Given the description of an element on the screen output the (x, y) to click on. 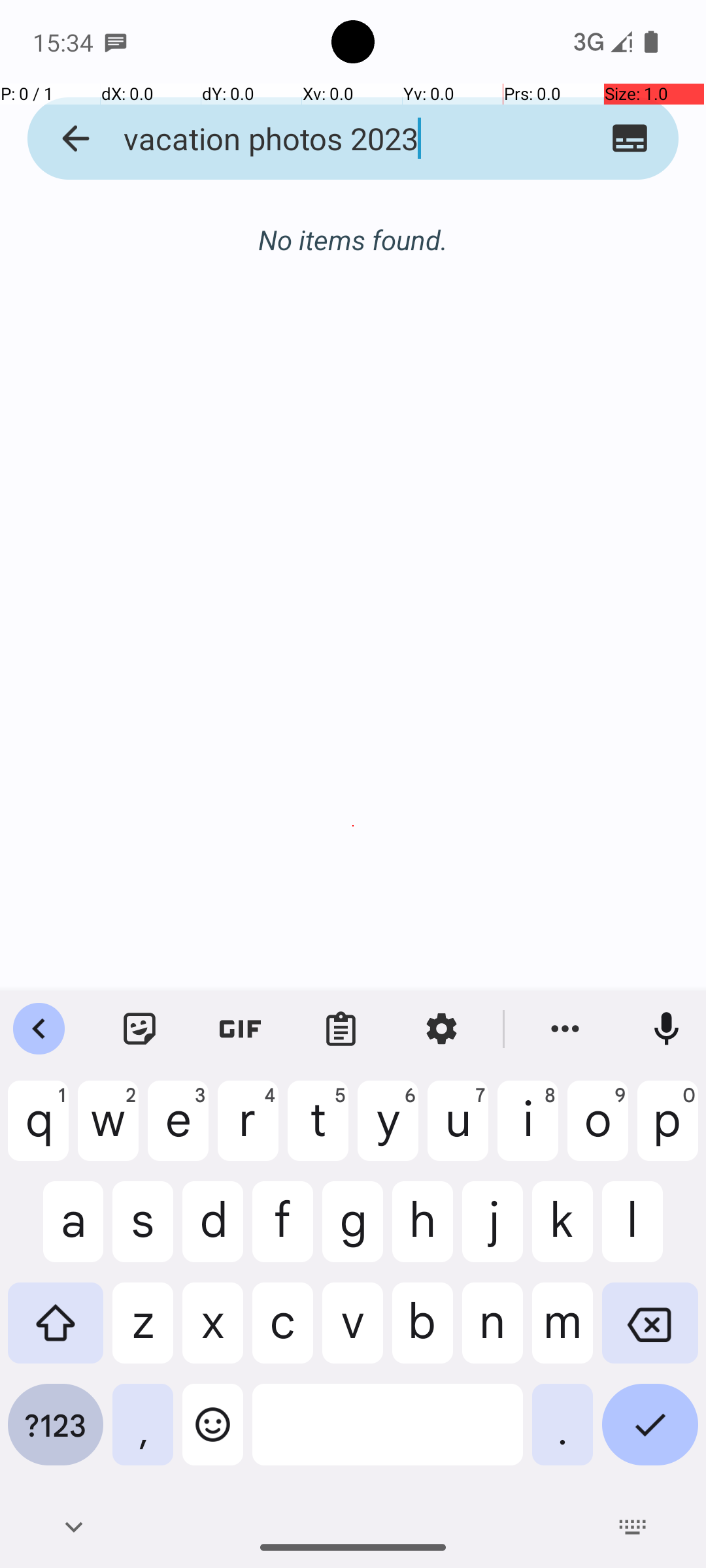
No items found. Element type: android.widget.TextView (353, 225)
vacation photos 2023 Element type: android.widget.EditText (328, 138)
Toggle filename visibility Element type: android.widget.Button (629, 138)
